Given the description of an element on the screen output the (x, y) to click on. 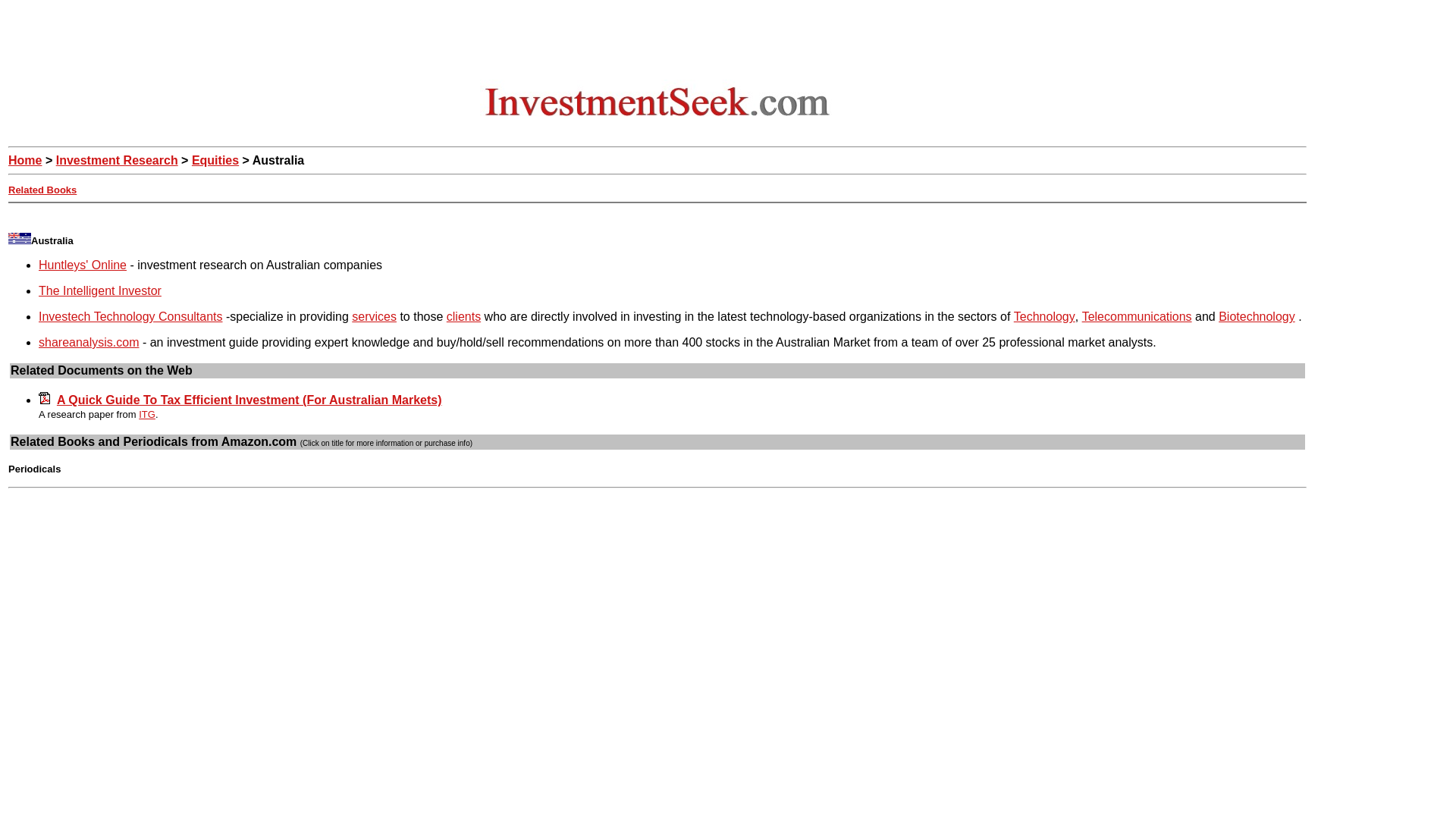
Telecommunications (1136, 316)
Biotechnology (1256, 316)
Advertisement (657, 42)
Technology (1044, 316)
Related Books (42, 189)
clients (463, 316)
Advertisement (284, 214)
Investech Technology Consultants (130, 316)
Home (25, 160)
services (374, 316)
